Given the description of an element on the screen output the (x, y) to click on. 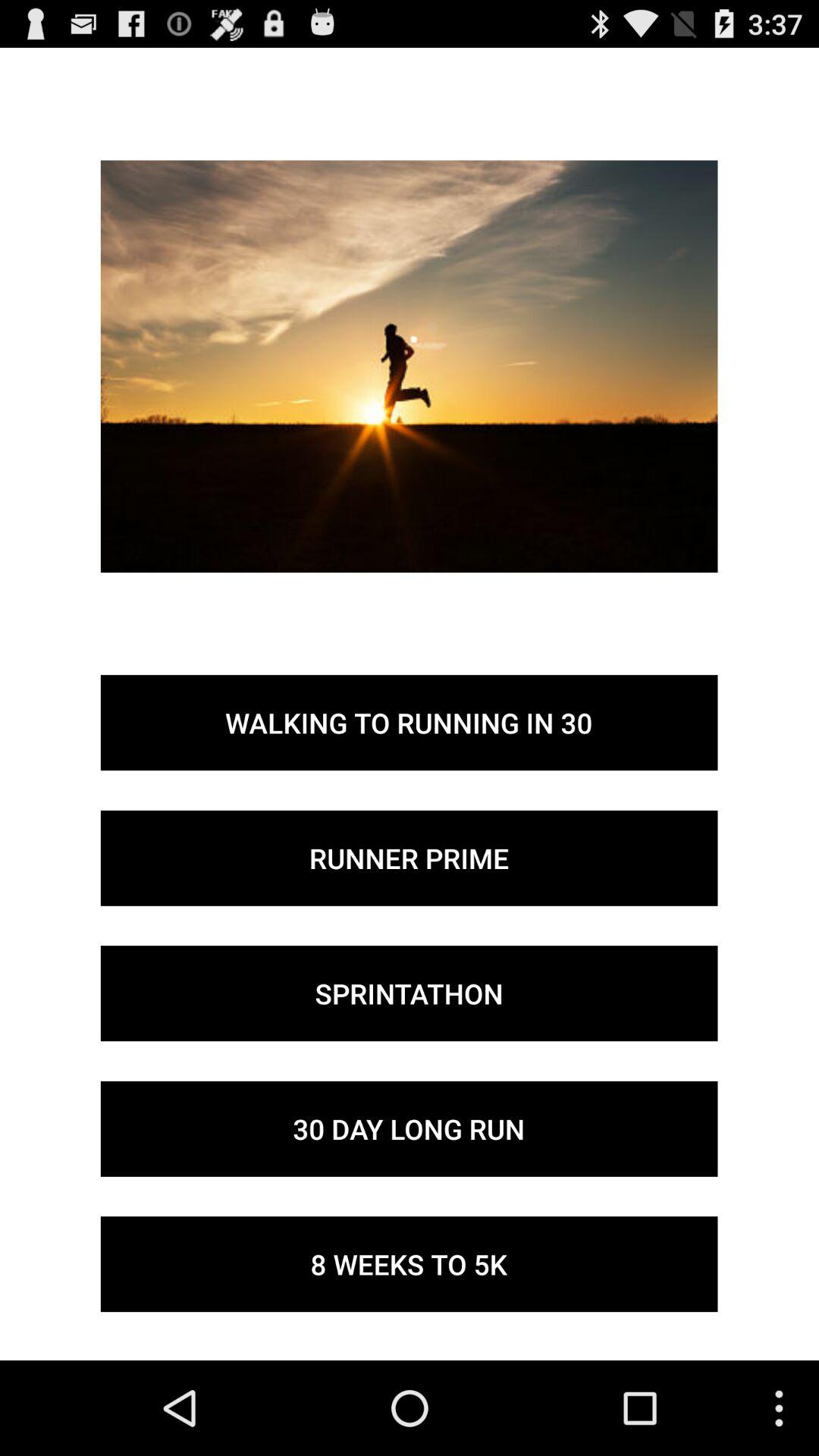
select the icon below the runner prime button (408, 993)
